Given the description of an element on the screen output the (x, y) to click on. 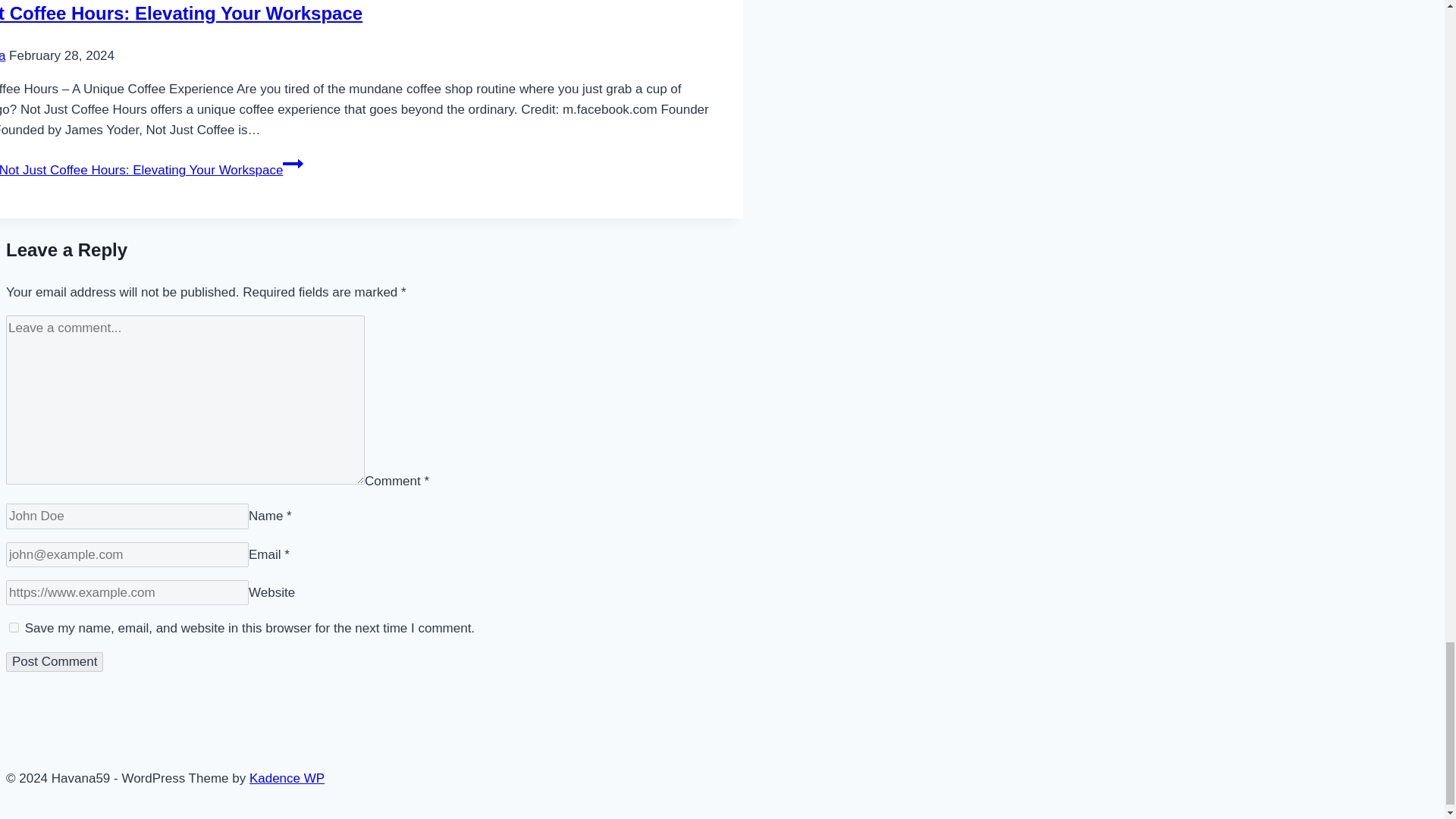
Post Comment (54, 661)
Not Just Coffee Hours: Elevating Your Workspace (181, 13)
Continue (292, 163)
Post Comment (54, 661)
yes (13, 627)
